Given the description of an element on the screen output the (x, y) to click on. 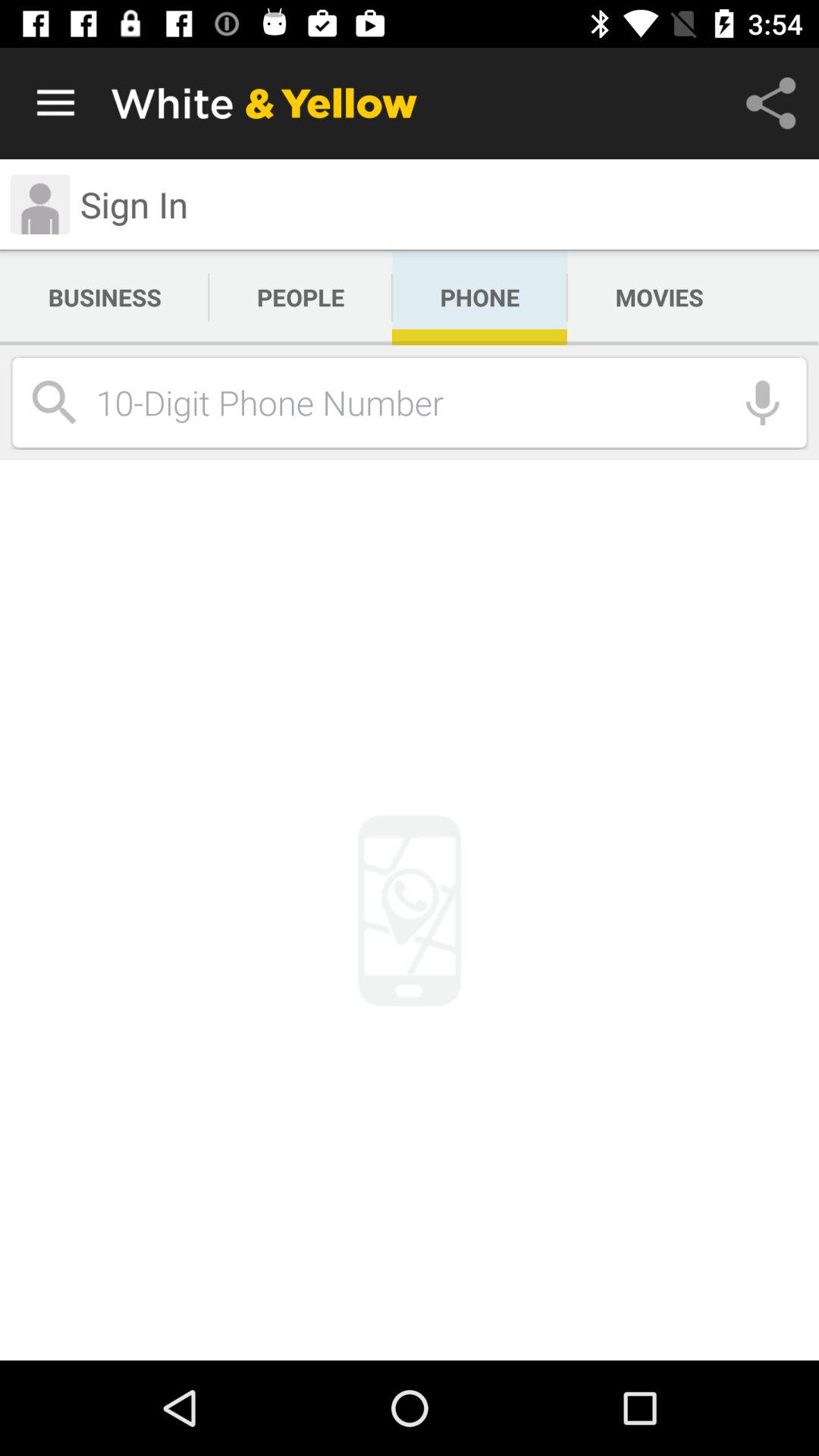
open sign in item (134, 204)
